Given the description of an element on the screen output the (x, y) to click on. 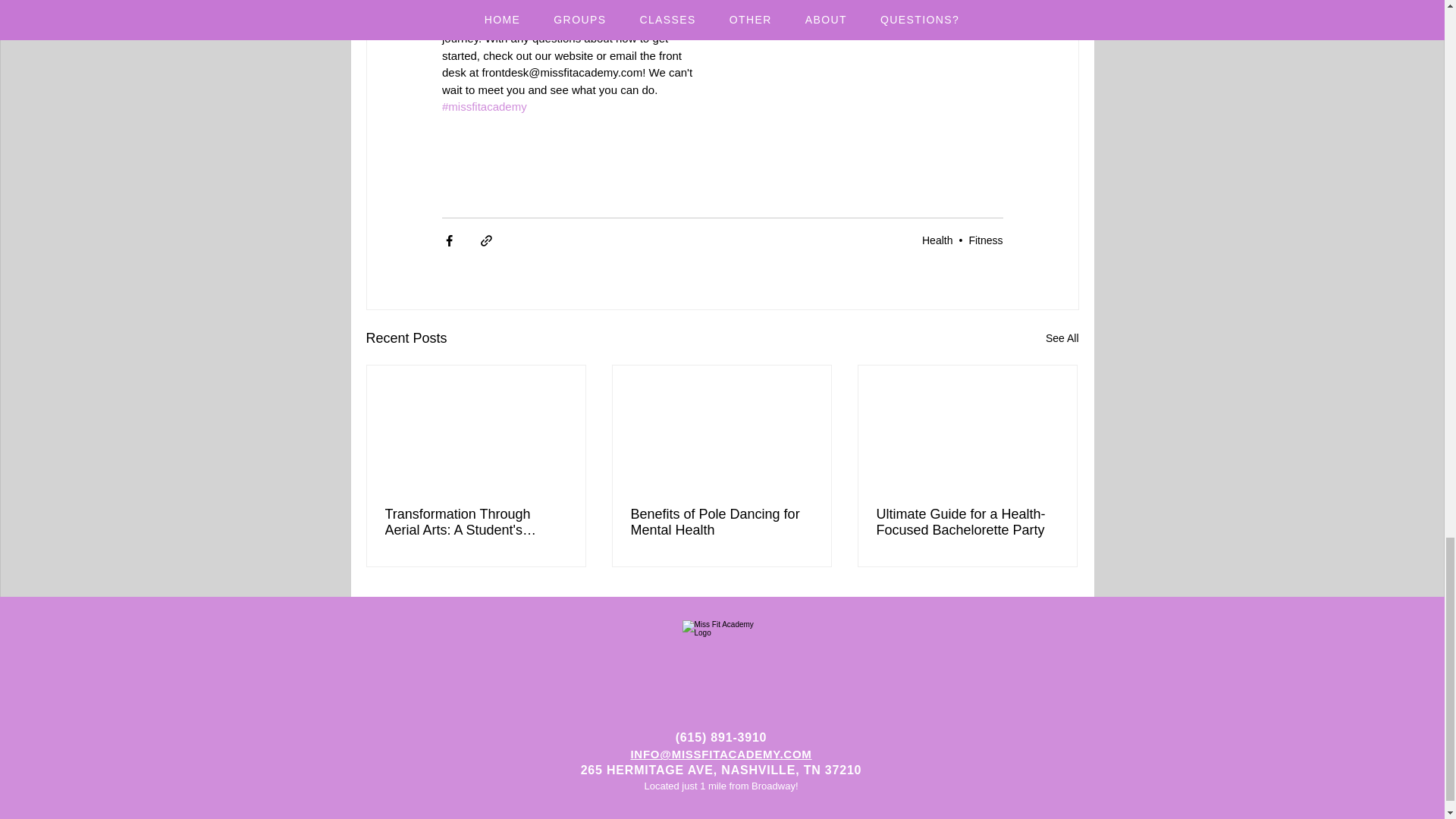
Health (936, 240)
